Given the description of an element on the screen output the (x, y) to click on. 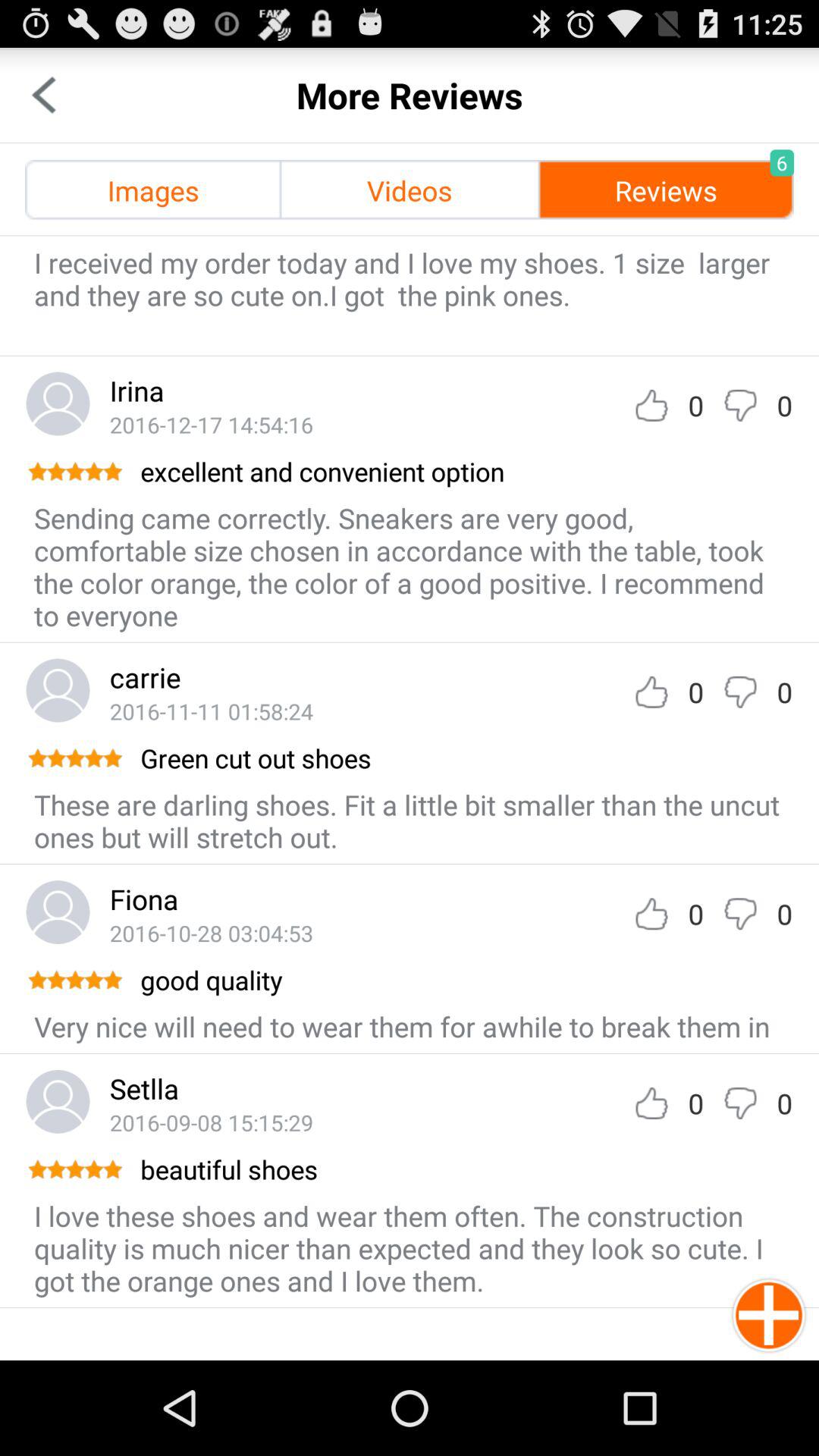
turn on the icon above the 2016 09 08 icon (144, 1088)
